Given the description of an element on the screen output the (x, y) to click on. 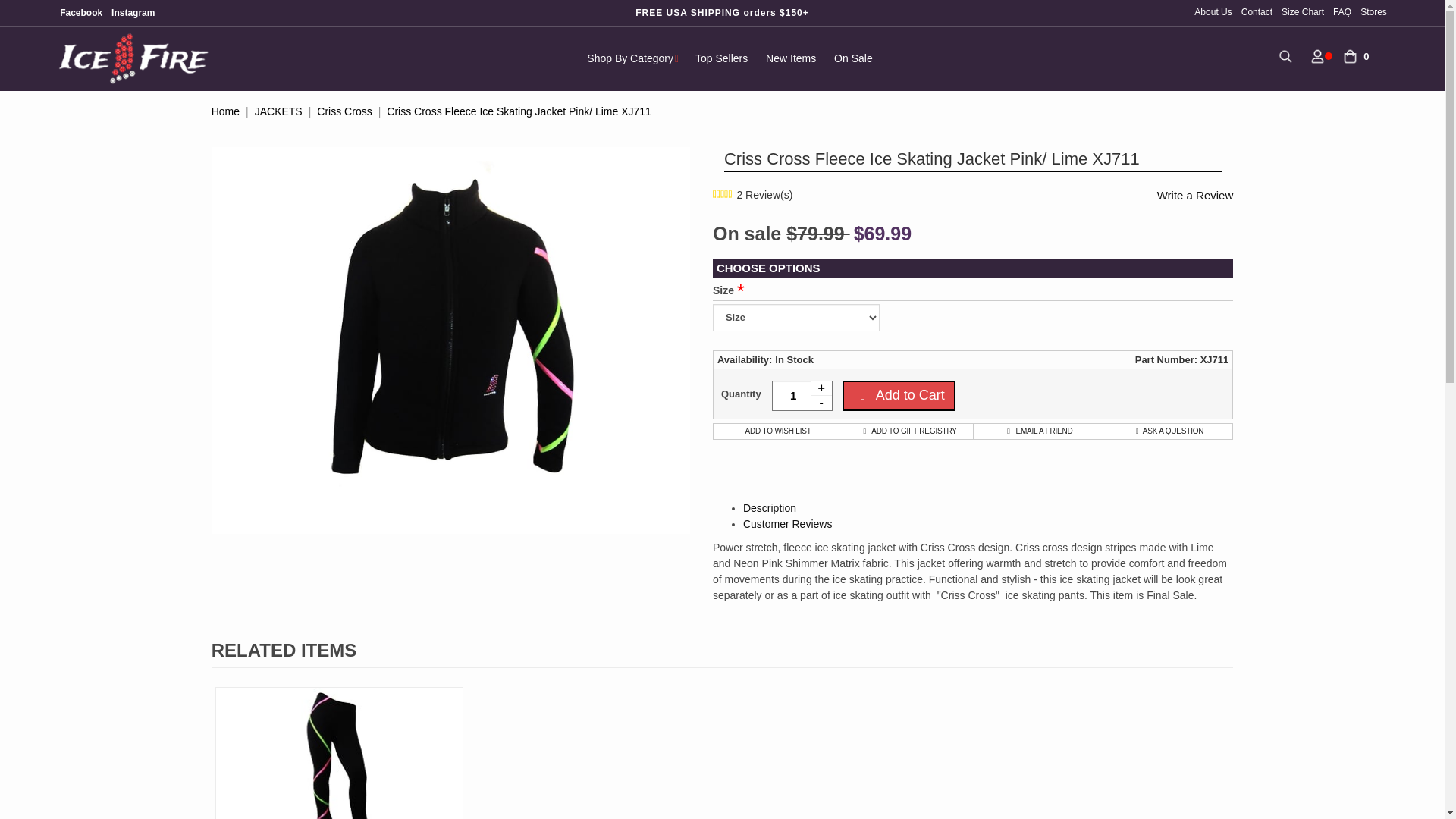
1 (801, 395)
Size Chart (1301, 11)
Facebook (79, 12)
Like Us on Facebook (79, 12)
Follow Us on Instagram (131, 12)
Login or Create an Account (1317, 55)
Open Search Bar (1285, 55)
Instagram (131, 12)
Top Sellers (721, 58)
Shop By Category (631, 58)
New Items (791, 58)
New Items (791, 58)
Contact (1256, 11)
FAQ (1341, 11)
Top Sellers (721, 58)
